Given the description of an element on the screen output the (x, y) to click on. 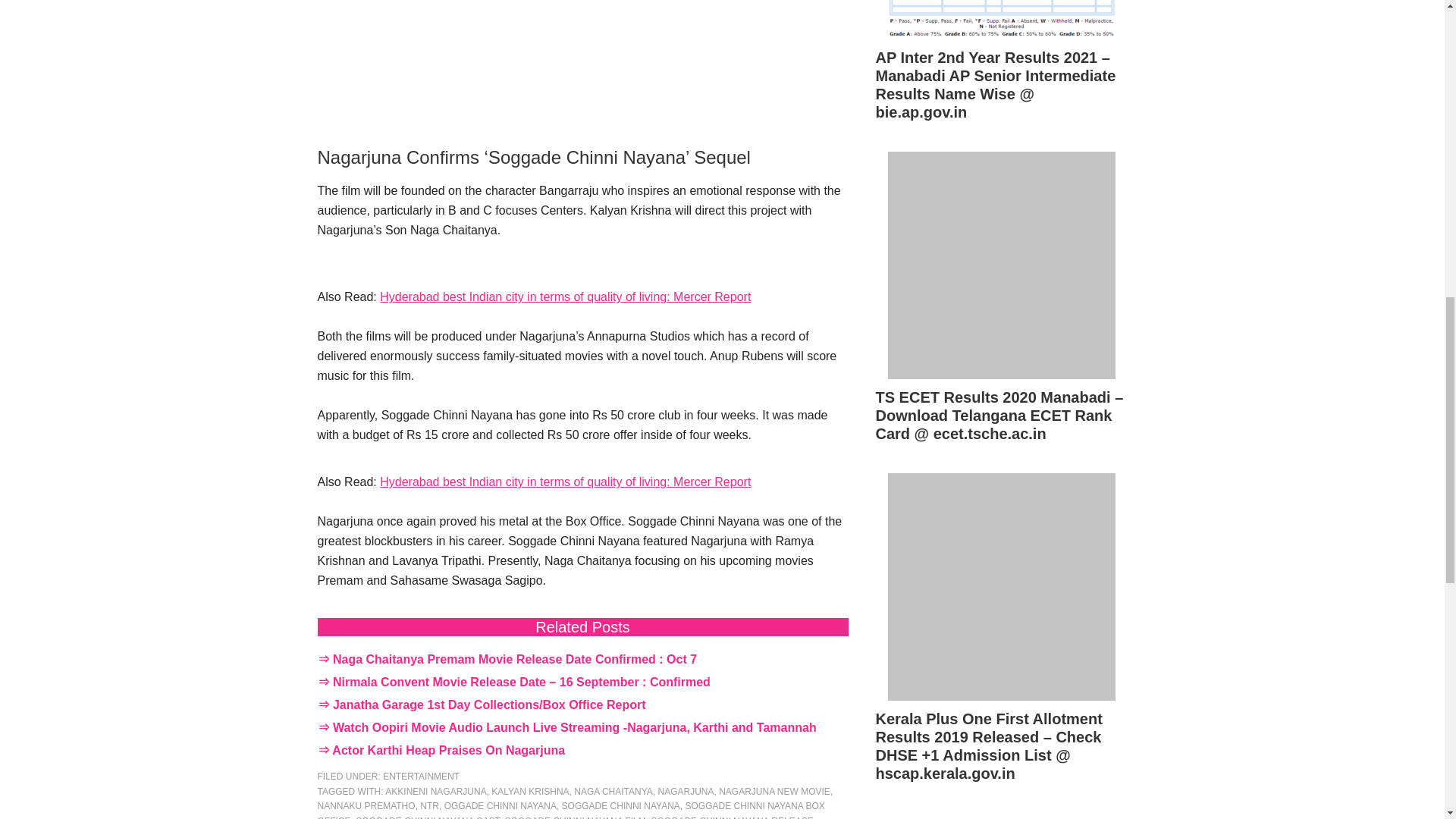
SOGGADE CHINNI NAYANA BOX OFFICE (570, 809)
AKKINENI NAGARJUNA (435, 791)
SOGGADE CHINNI NAYANA FILM (574, 817)
NAGARJUNA NEW MOVIE (774, 791)
ENTERTAINMENT (421, 776)
NTR (429, 805)
NANNAKU PREMATHO (365, 805)
KALYAN KRISHNA (530, 791)
Permanent Link toActor Karthi Heap Praises On Nagarjuna (447, 749)
Naga Chaitanya Premam Movie Release Date Confirmed : Oct 7 (515, 658)
SOGGADE CHINNI NAYANA CAST (427, 817)
Actor Karthi Heap Praises On Nagarjuna (447, 749)
